Given the description of an element on the screen output the (x, y) to click on. 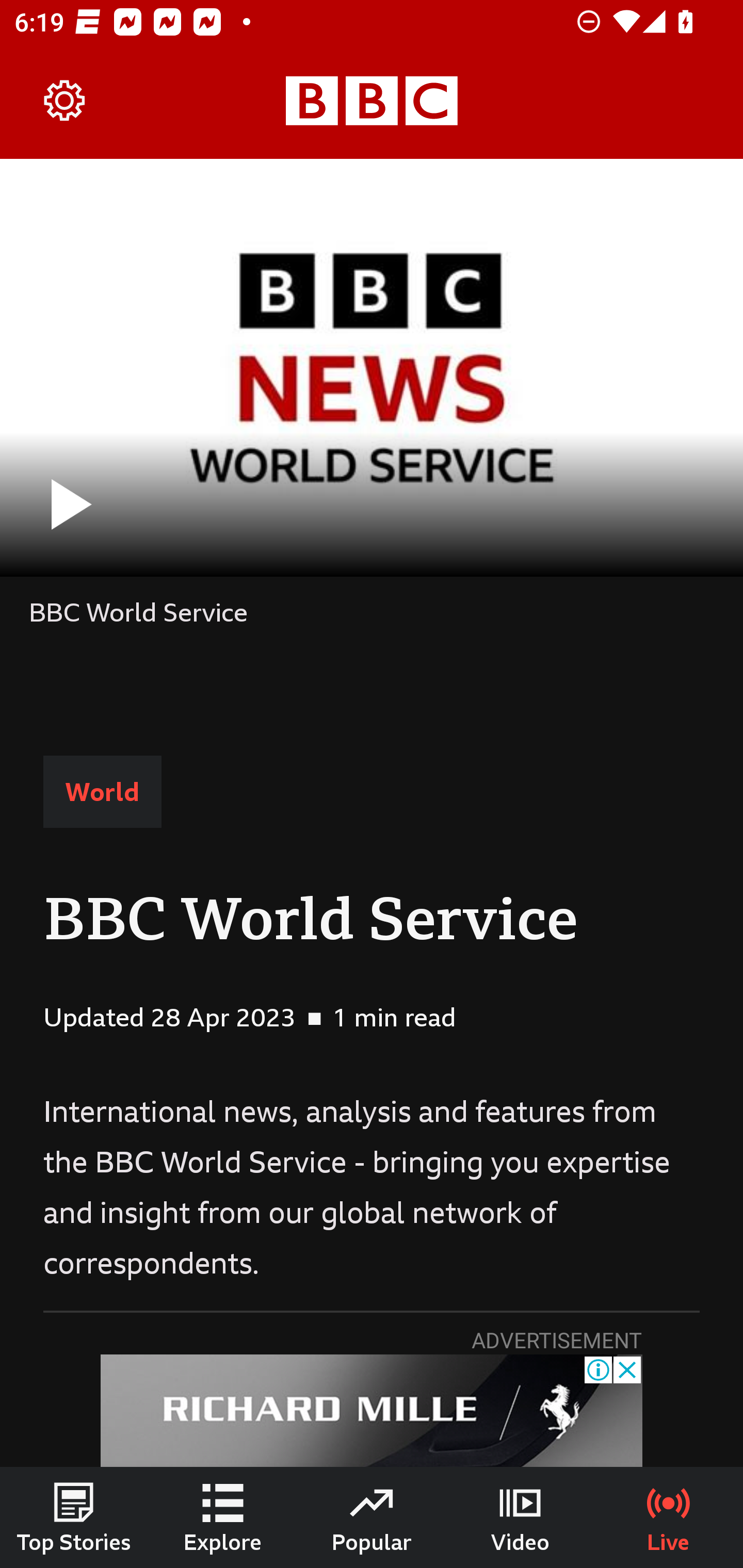
Settings (64, 100)
play fullscreen (371, 367)
World (102, 791)
Top Stories (74, 1517)
Explore (222, 1517)
Popular (371, 1517)
Video (519, 1517)
